Given the description of an element on the screen output the (x, y) to click on. 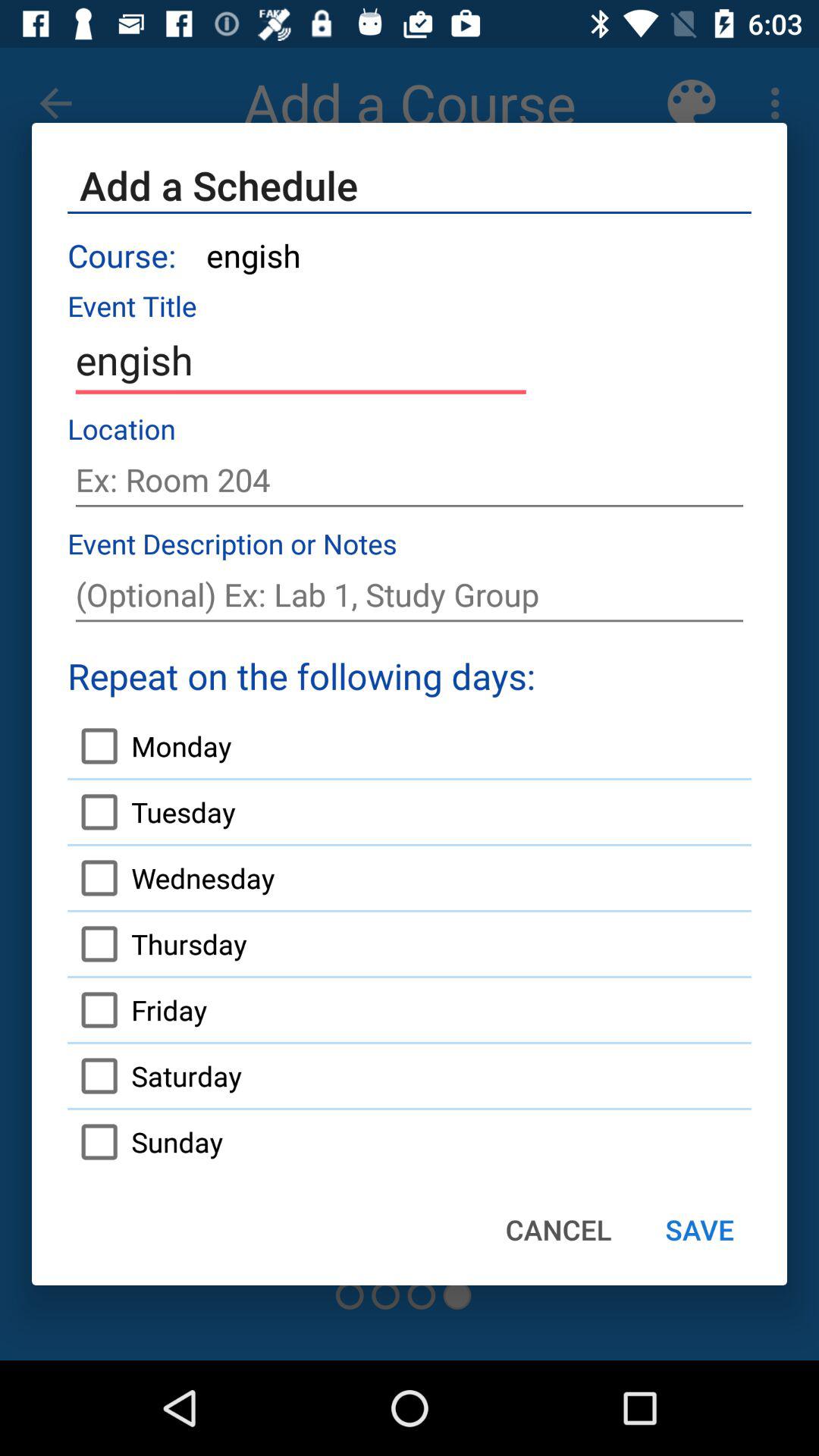
select sunday item (144, 1141)
